Given the description of an element on the screen output the (x, y) to click on. 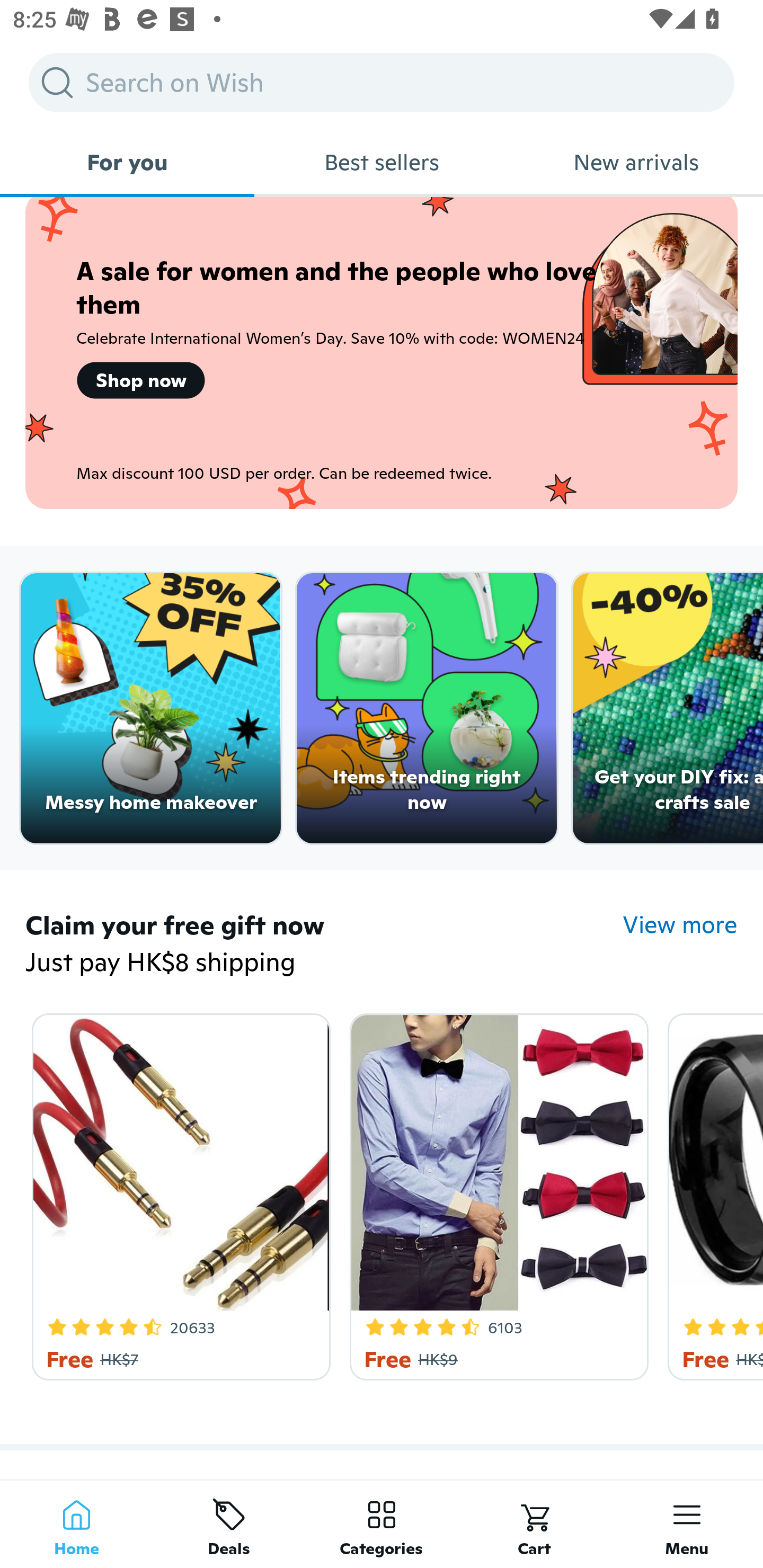
Search on Wish (381, 82)
For you (127, 161)
Best sellers (381, 161)
New arrivals (635, 161)
Messy home makeover (150, 708)
Items trending right now (426, 708)
Get your DIY fix: arts & crafts sale (668, 708)
Claim your free gift now
Just pay HK$8 shipping (323, 944)
View more (679, 923)
4.3 Star Rating 20633 Free HK$7 (177, 1192)
4.4 Star Rating 6103 Free HK$9 (495, 1192)
Home (76, 1523)
Deals (228, 1523)
Categories (381, 1523)
Cart (533, 1523)
Menu (686, 1523)
